Given the description of an element on the screen output the (x, y) to click on. 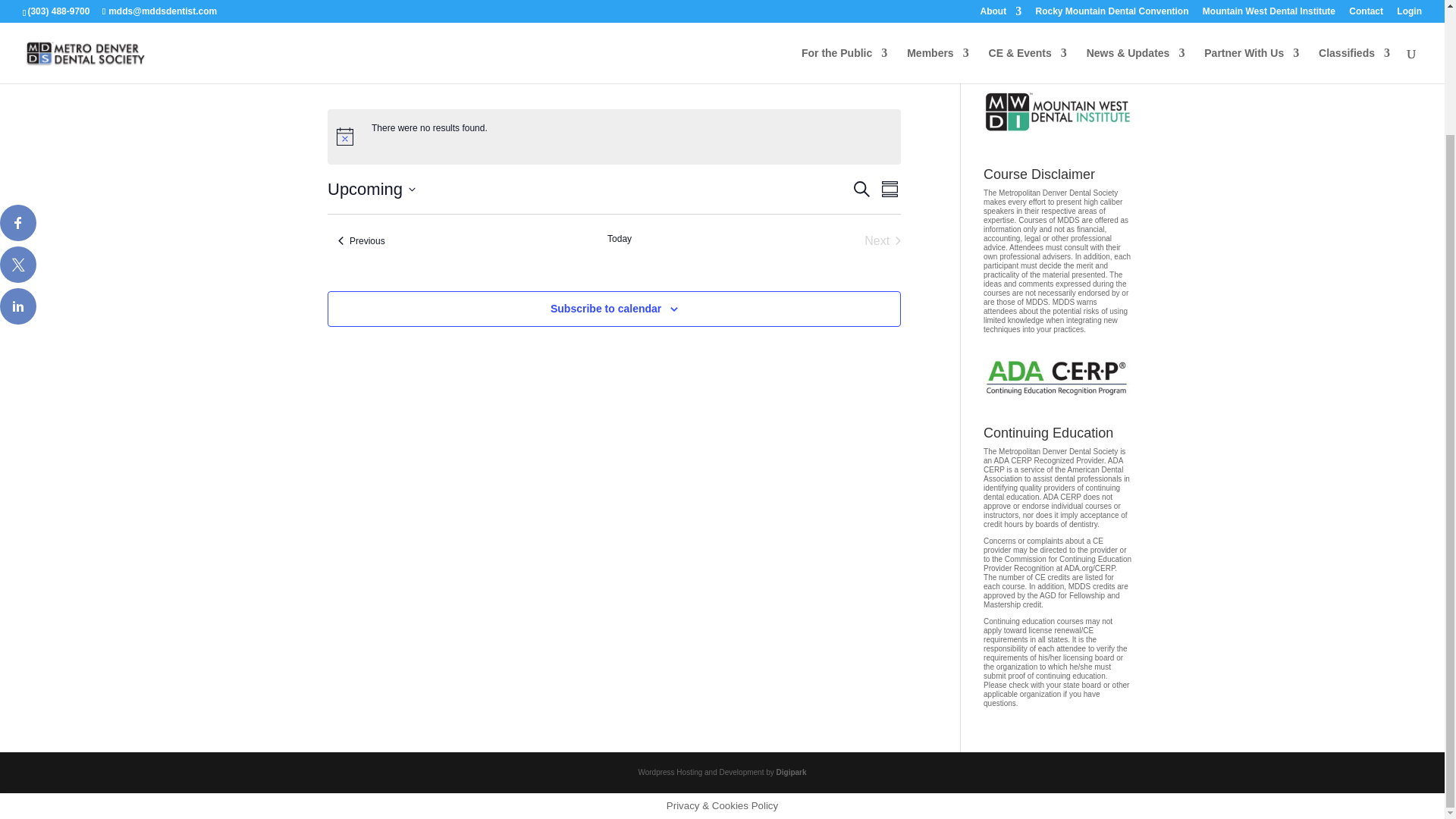
Previous Events (361, 240)
Click to select today's date (619, 240)
Click to toggle datepicker (370, 188)
Next Events (882, 240)
